Given the description of an element on the screen output the (x, y) to click on. 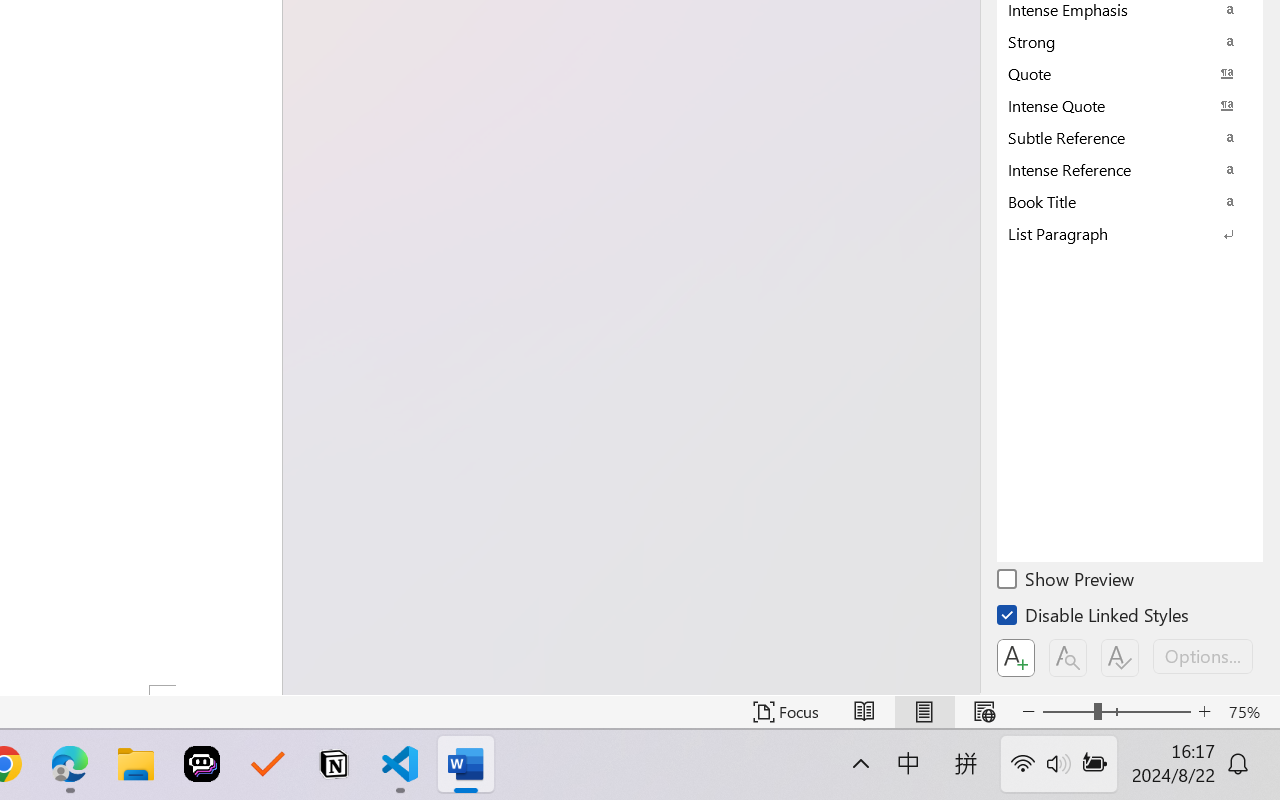
Book Title (1130, 201)
